Given the description of an element on the screen output the (x, y) to click on. 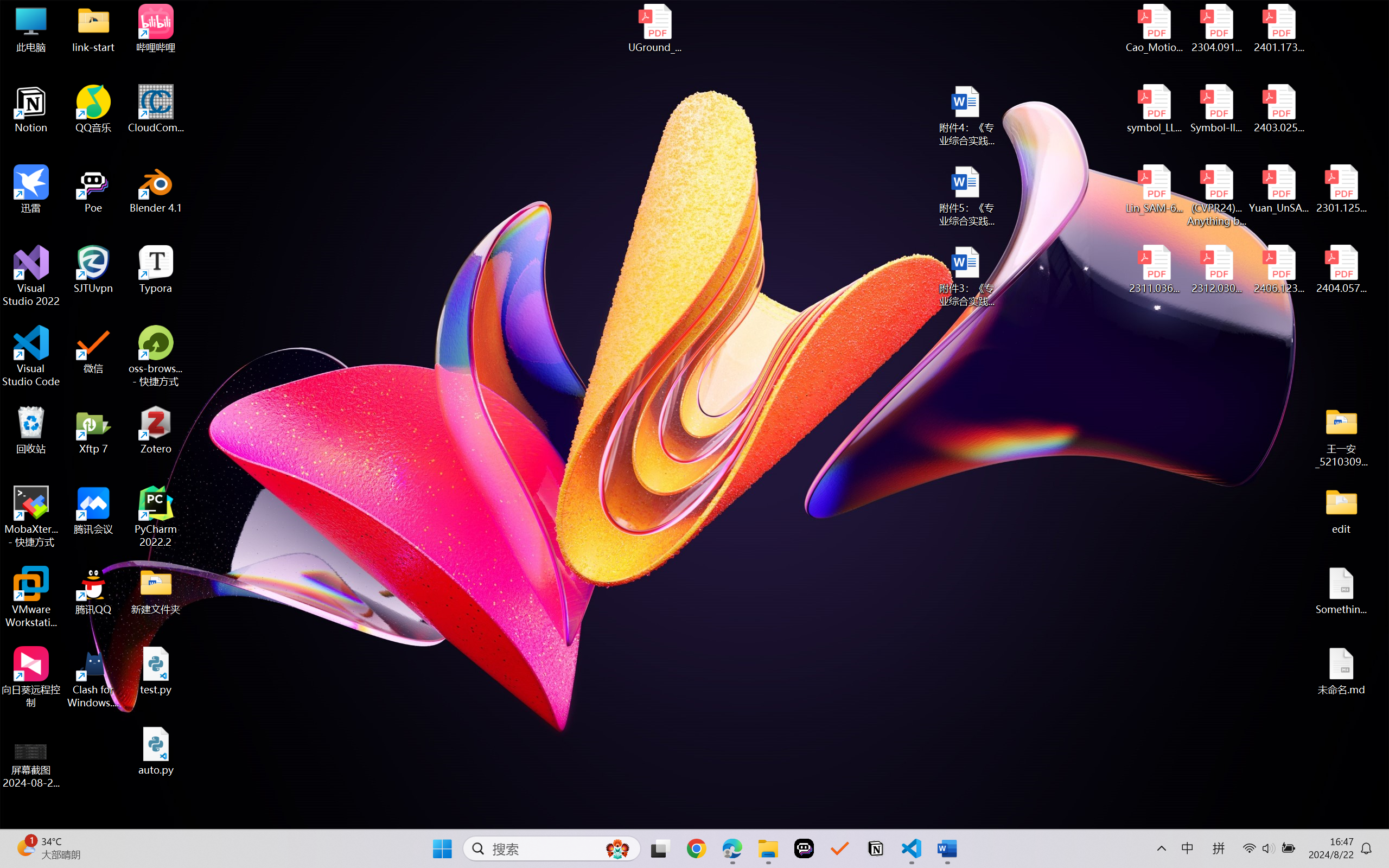
Blender 4.1 (156, 189)
2403.02502v1.pdf (1278, 109)
auto.py (156, 751)
